Given the description of an element on the screen output the (x, y) to click on. 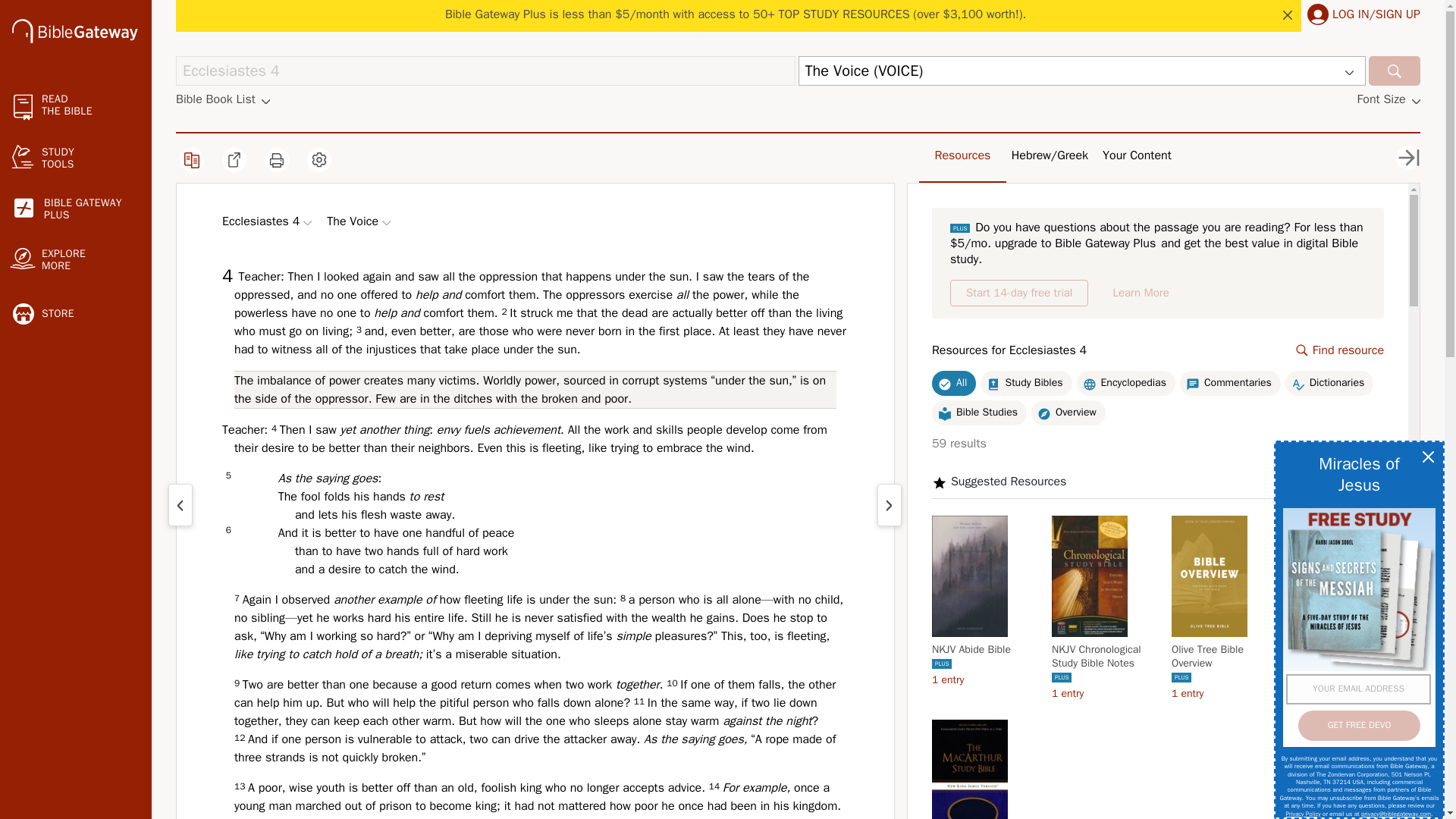
Open menu (306, 222)
Ecclesiastes 4 (485, 70)
GET FREE DEVO (1359, 725)
Ecclesiastes 4 (485, 70)
close (1287, 14)
Close Sidebar (1408, 157)
Start 14-day free trial (75, 209)
Bible Book List (1019, 293)
account (222, 99)
Bible Gateway logo (1317, 14)
Search (74, 30)
Bible Gateway logo (1394, 70)
Your Content (74, 32)
Resources (1137, 155)
